Given the description of an element on the screen output the (x, y) to click on. 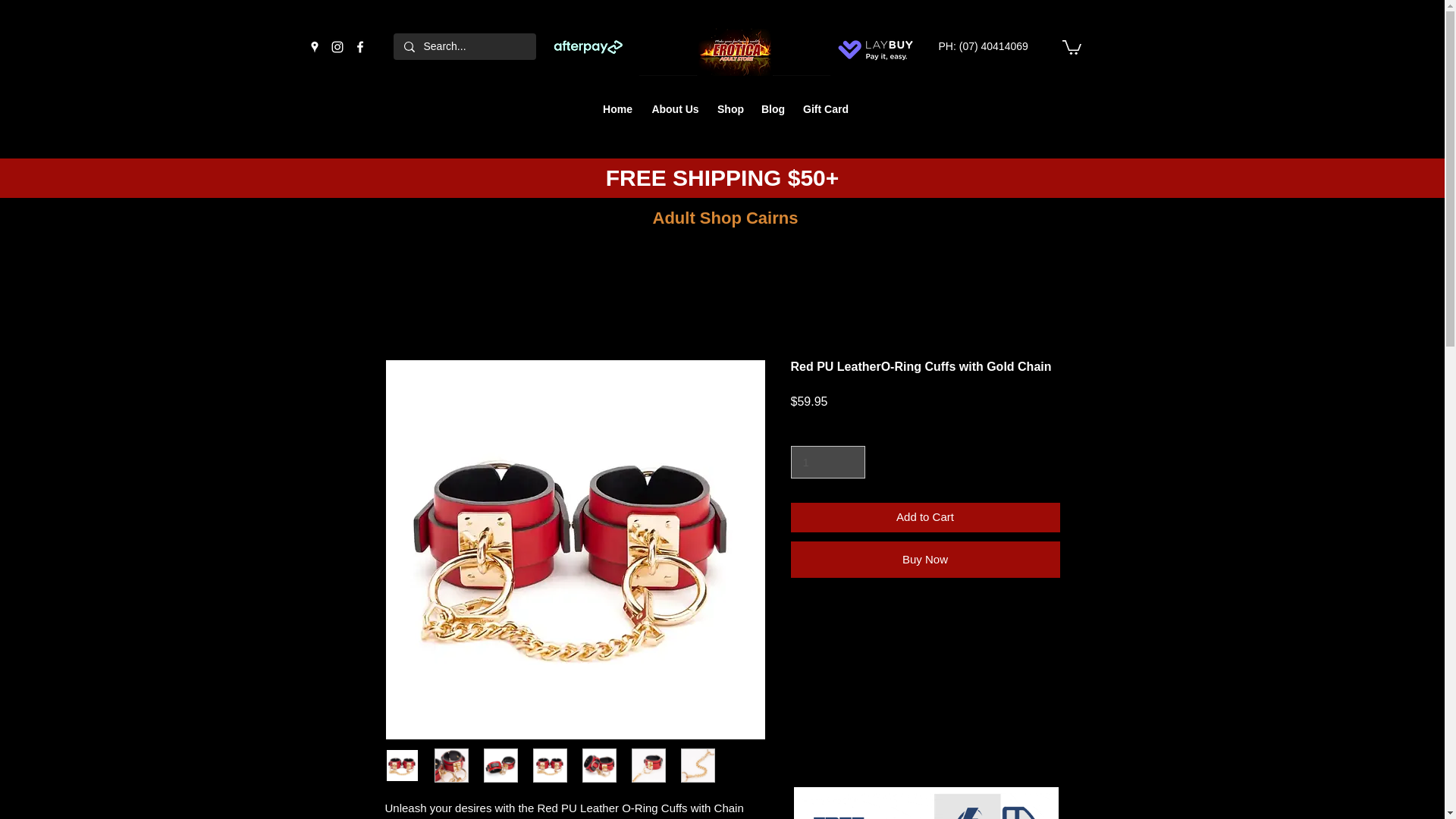
Buy Now (924, 559)
Home (617, 108)
Shop (729, 108)
Add to Cart (924, 517)
Gift Card (825, 108)
About Us (674, 108)
Blog (772, 108)
1 (827, 462)
